Given the description of an element on the screen output the (x, y) to click on. 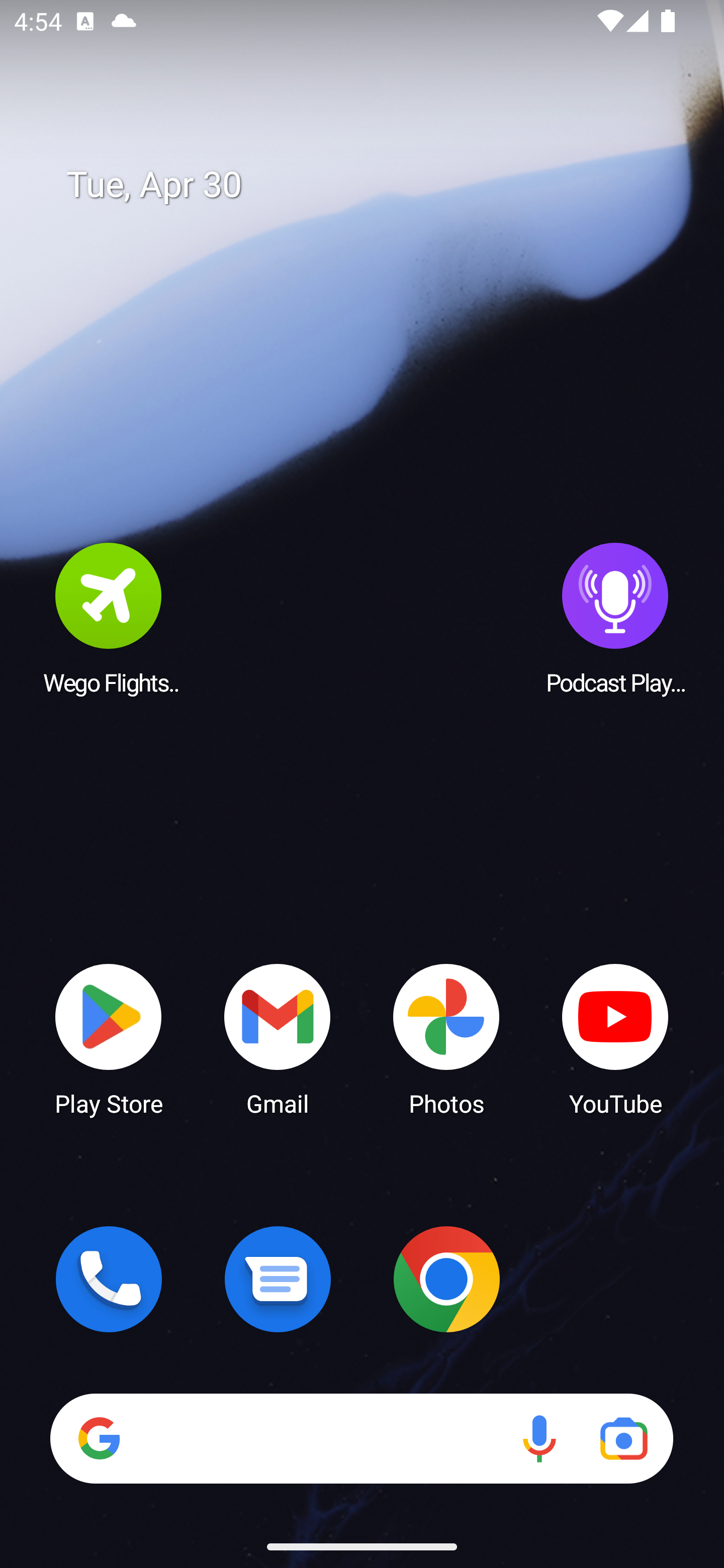
Tue, Apr 30 (375, 184)
Wego Flights & Hotels (108, 617)
Podcast Player (615, 617)
Play Store (108, 1038)
Gmail (277, 1038)
Photos (445, 1038)
YouTube (615, 1038)
Phone (108, 1279)
Messages (277, 1279)
Chrome (446, 1279)
Voice search (539, 1438)
Google Lens (623, 1438)
